Given the description of an element on the screen output the (x, y) to click on. 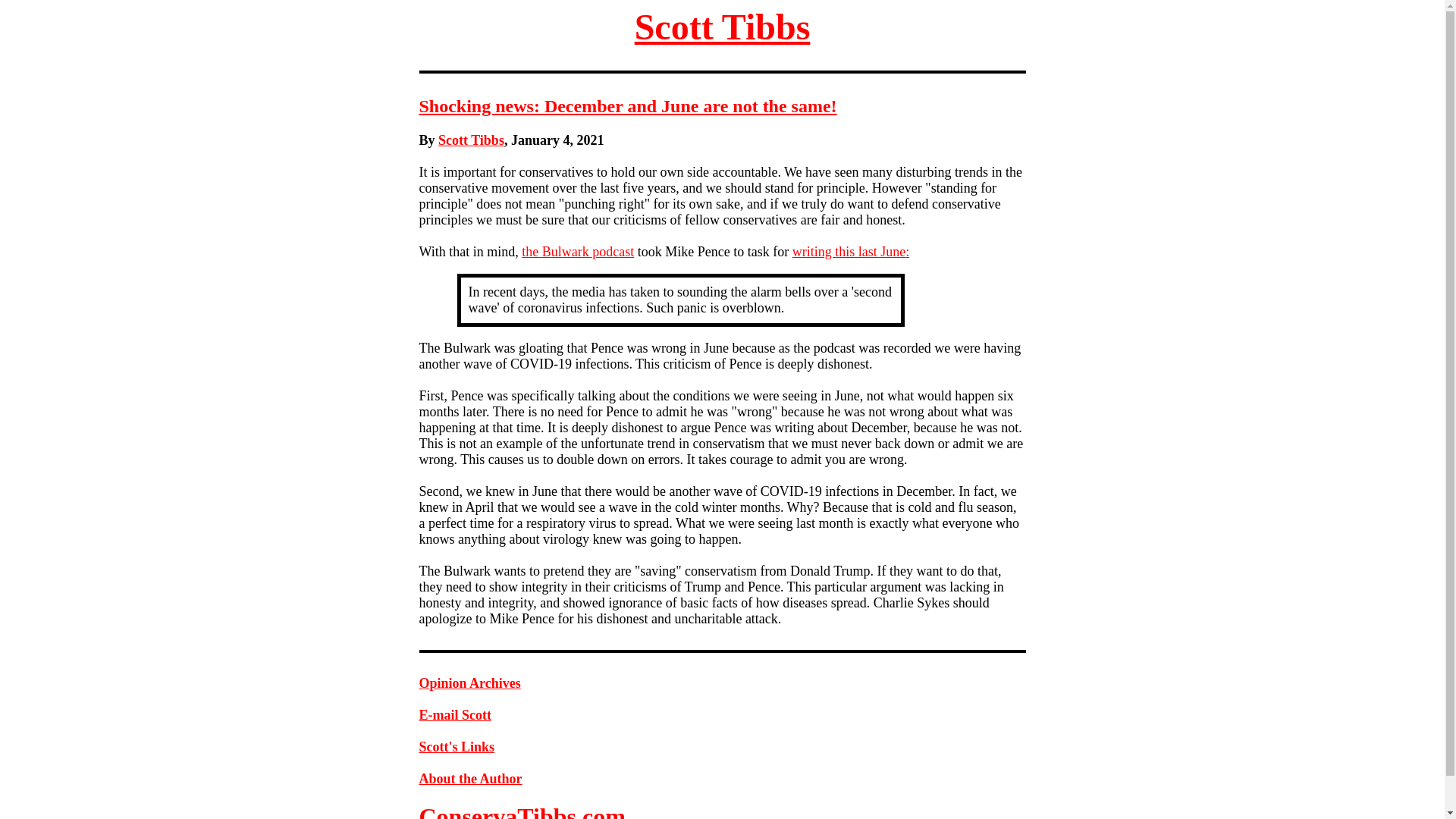
ConservaTibbs.com (521, 811)
E-mail Scott (454, 714)
writing this last June: (851, 251)
Scott Tibbs (722, 26)
the Bulwark podcast (577, 251)
About the Author (470, 778)
Scott Tibbs (470, 140)
Shocking news: December and June are not the same! (627, 106)
Scott's Links (457, 746)
Opinion Archives (469, 683)
